Given the description of an element on the screen output the (x, y) to click on. 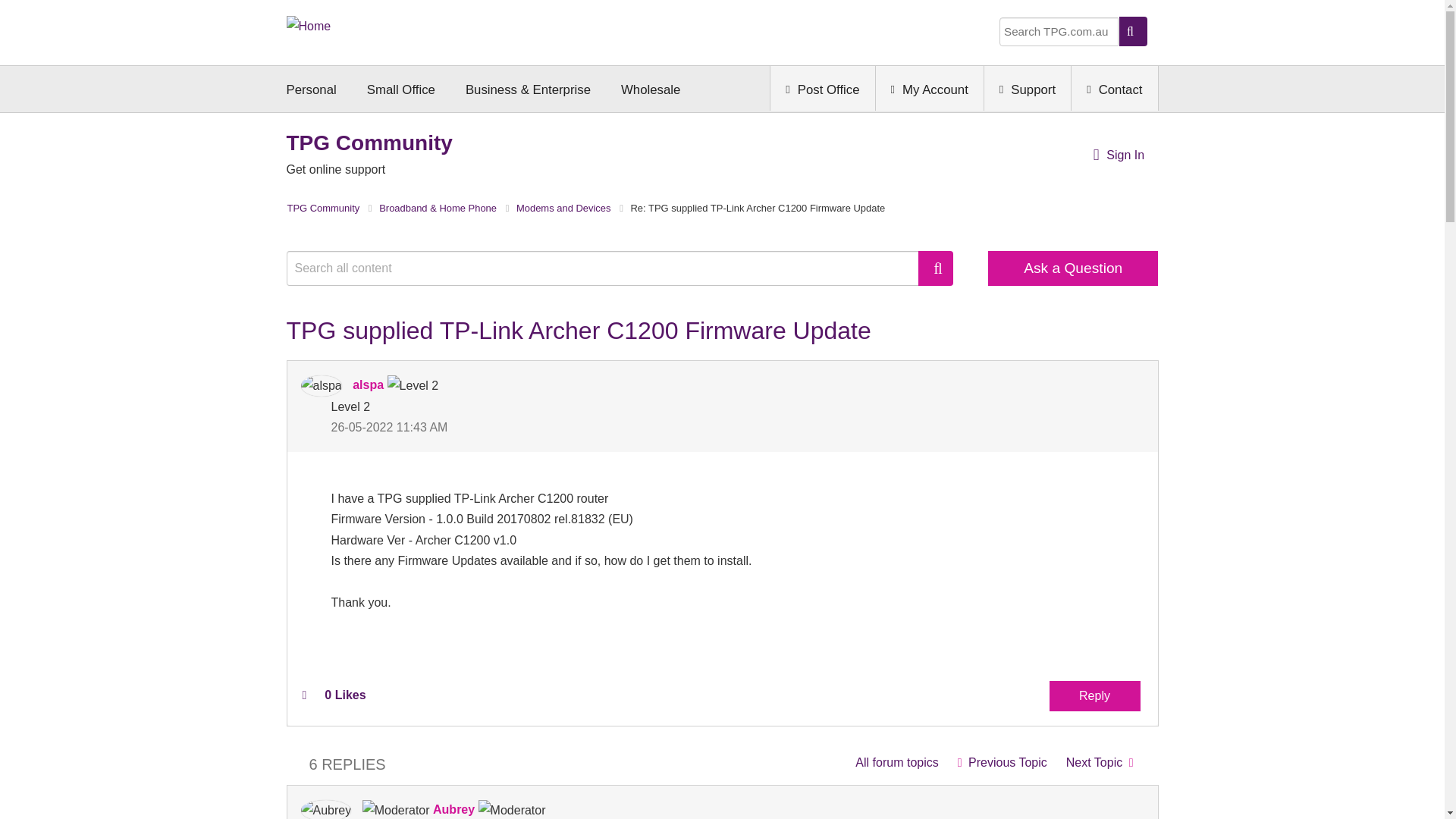
Posted on (526, 426)
My nbn wifi (1002, 762)
Modems and Devices (896, 762)
Moderator (395, 809)
Search (935, 267)
The total number of kudos this post has received. (344, 695)
Search (610, 267)
Search (935, 267)
Home (308, 24)
alspa (319, 385)
